Given the description of an element on the screen output the (x, y) to click on. 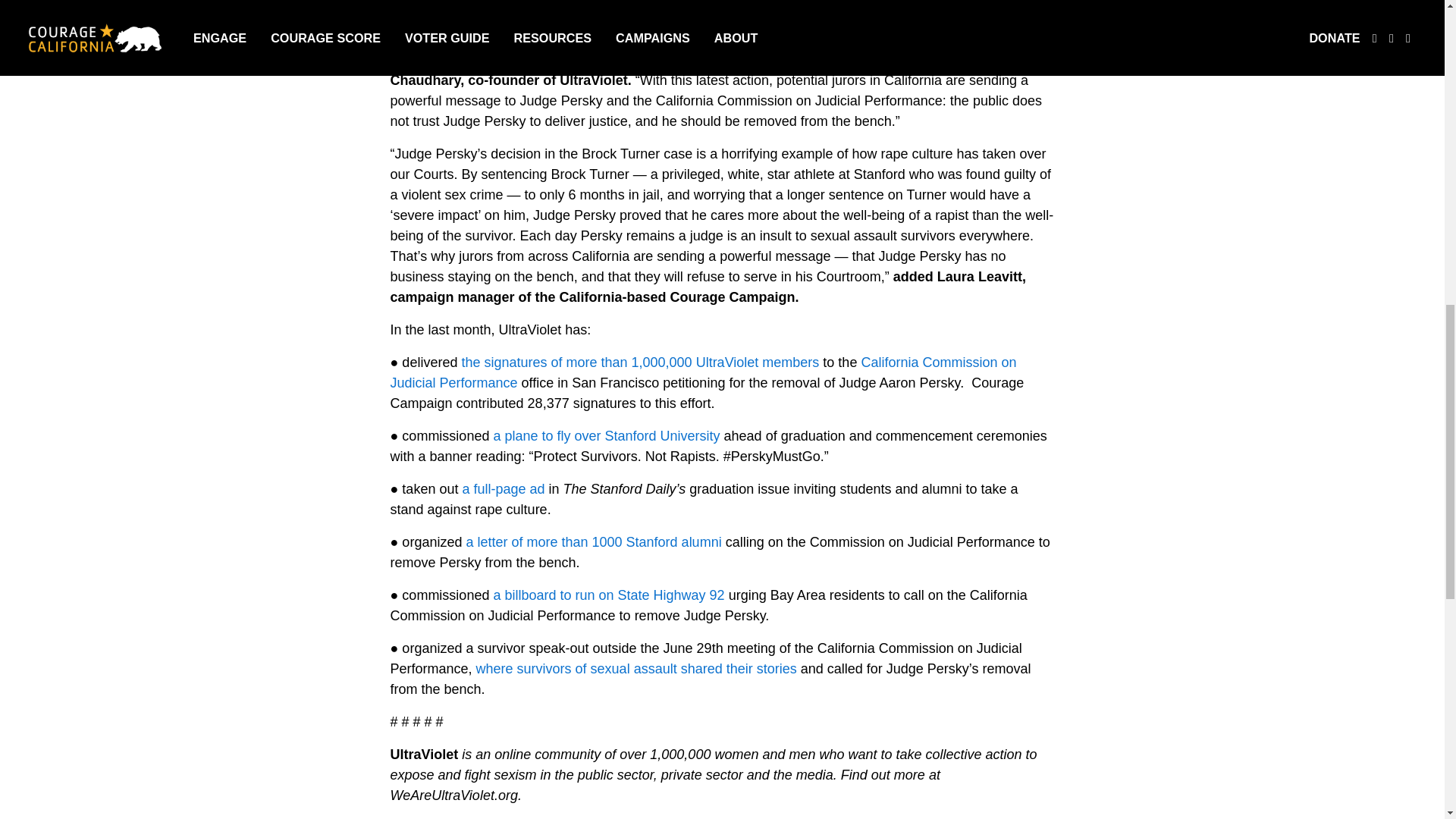
a full-page ad (504, 488)
California Commission on Judicial Performance (703, 372)
the signatures of more than 1,000,000 UltraViolet members (639, 362)
a plane to fly over Stanford University (606, 435)
